Given the description of an element on the screen output the (x, y) to click on. 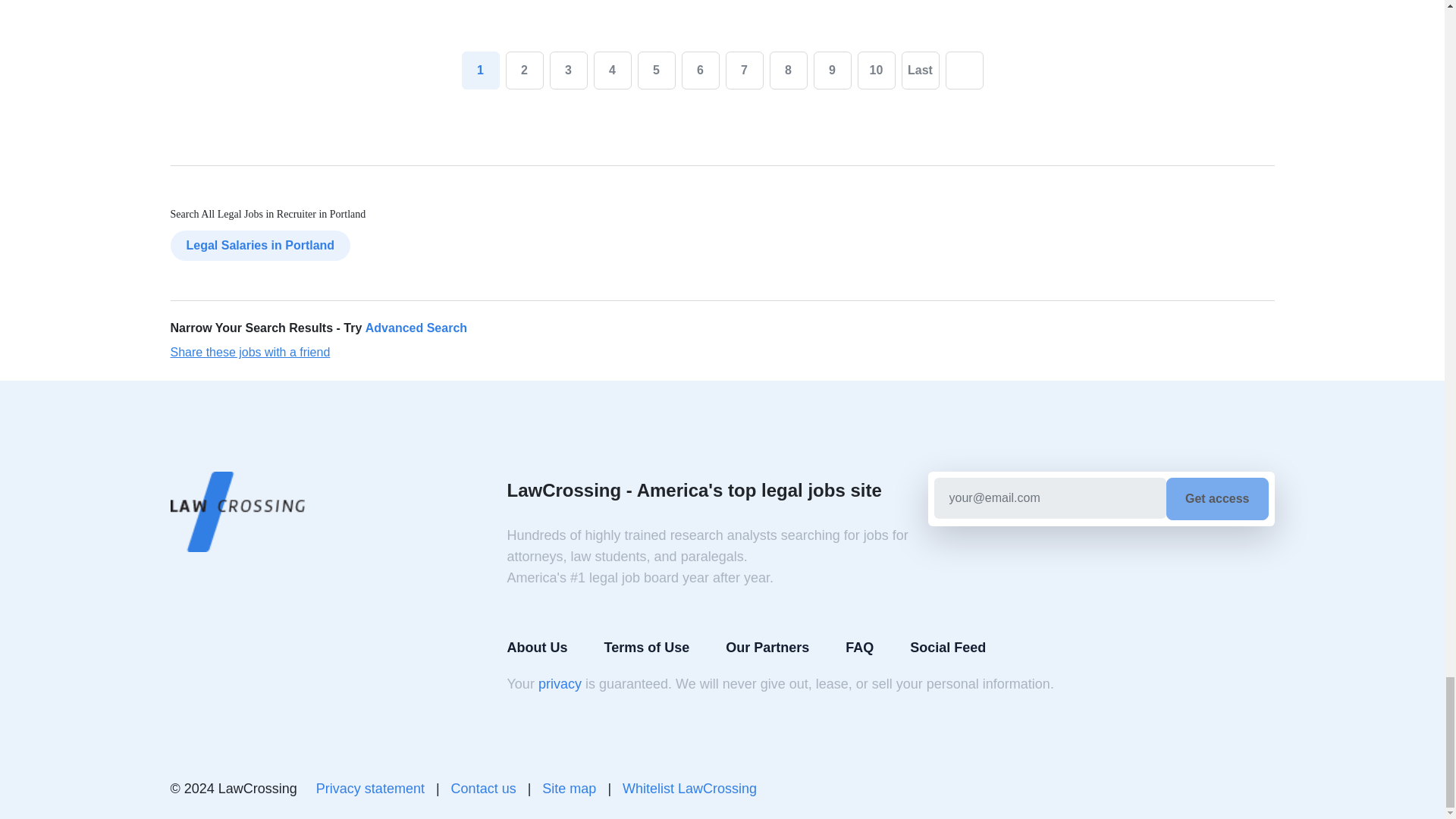
LawCrossing Linkedin (1224, 788)
LawCrossing Facebook (1188, 788)
LawCrossing Twitter (1261, 788)
